Given the description of an element on the screen output the (x, y) to click on. 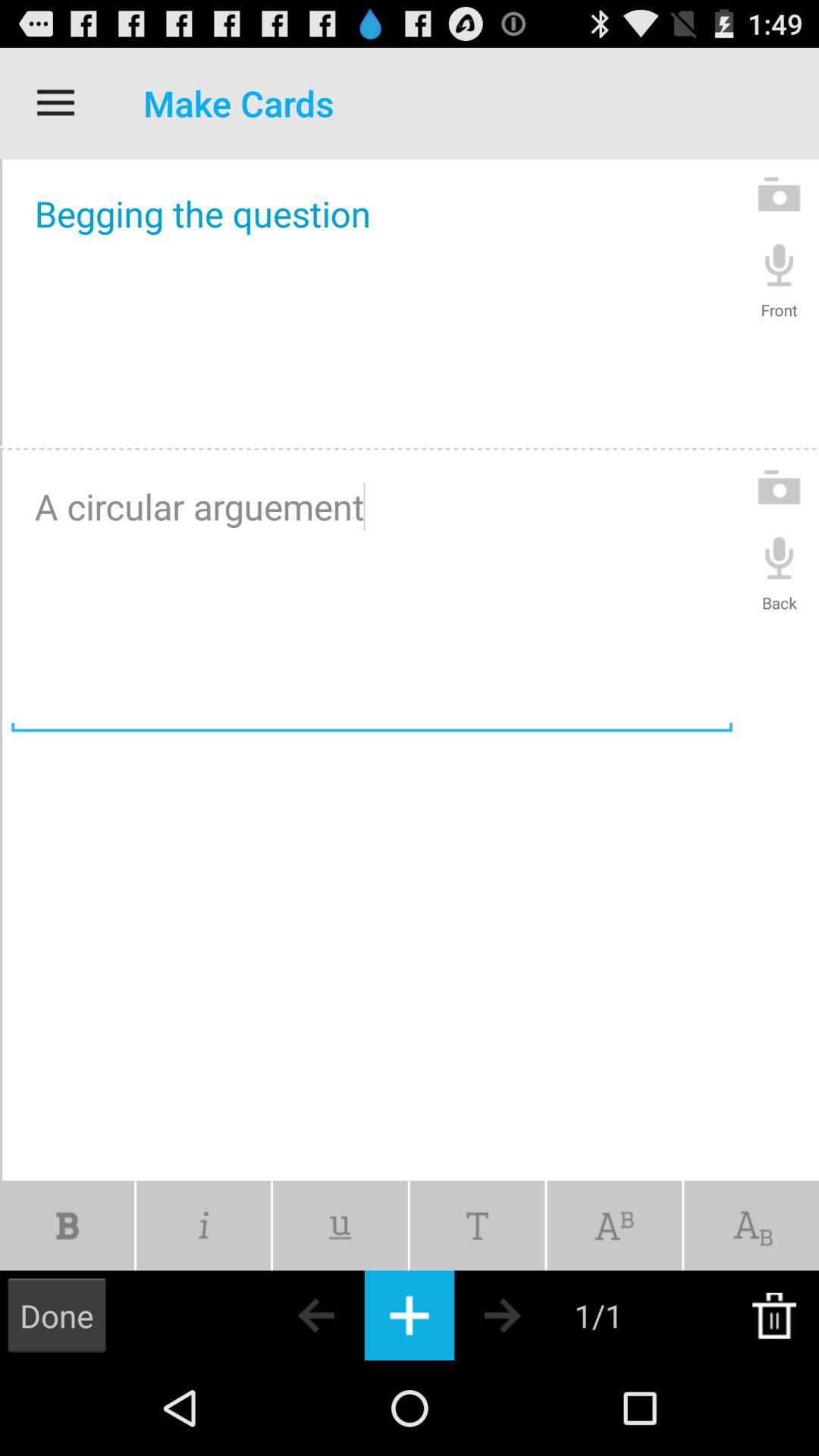
next card (529, 1315)
